Given the description of an element on the screen output the (x, y) to click on. 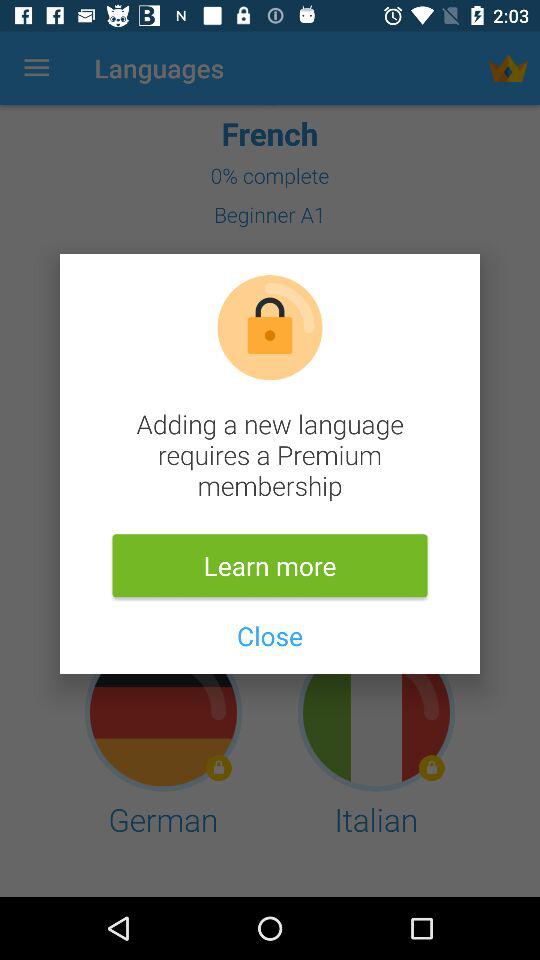
choose learn more (269, 565)
